Given the description of an element on the screen output the (x, y) to click on. 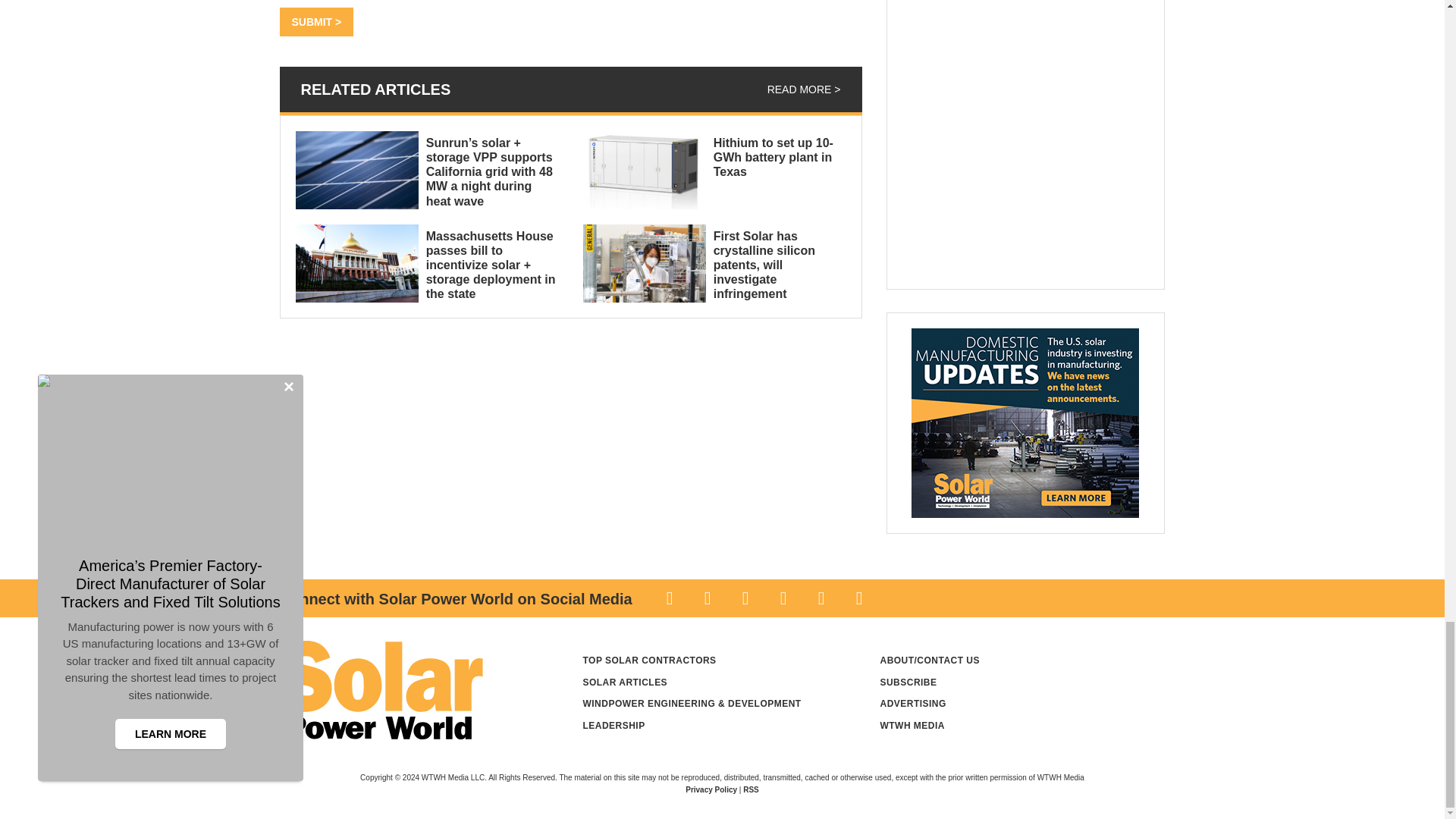
reCAPTCHA (394, 1)
